Given the description of an element on the screen output the (x, y) to click on. 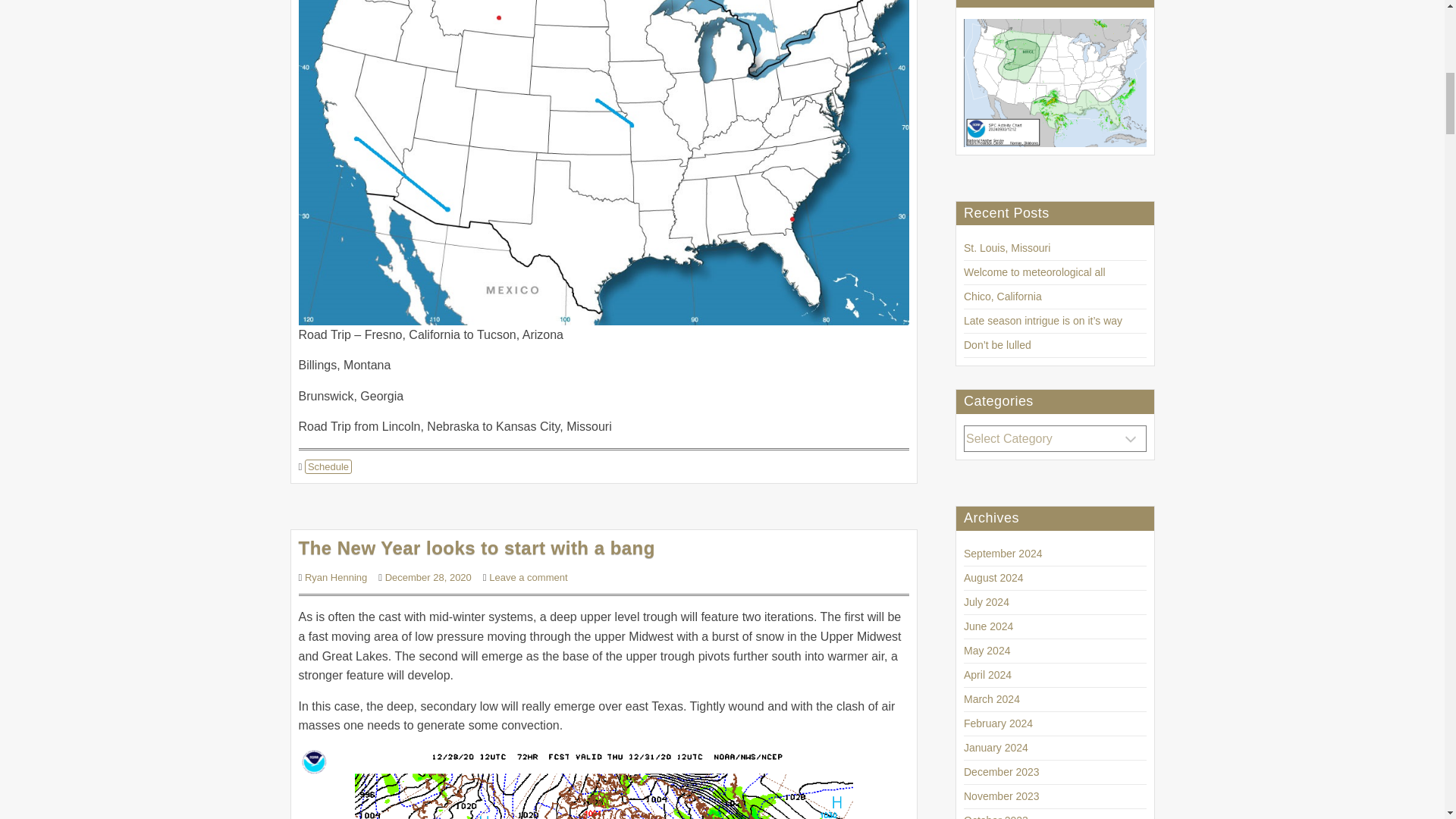
Ryan Henning (335, 577)
The New Year looks to start with a bang (476, 547)
Leave a comment (528, 577)
Schedule (328, 466)
December 28, 2020 (428, 577)
